Given the description of an element on the screen output the (x, y) to click on. 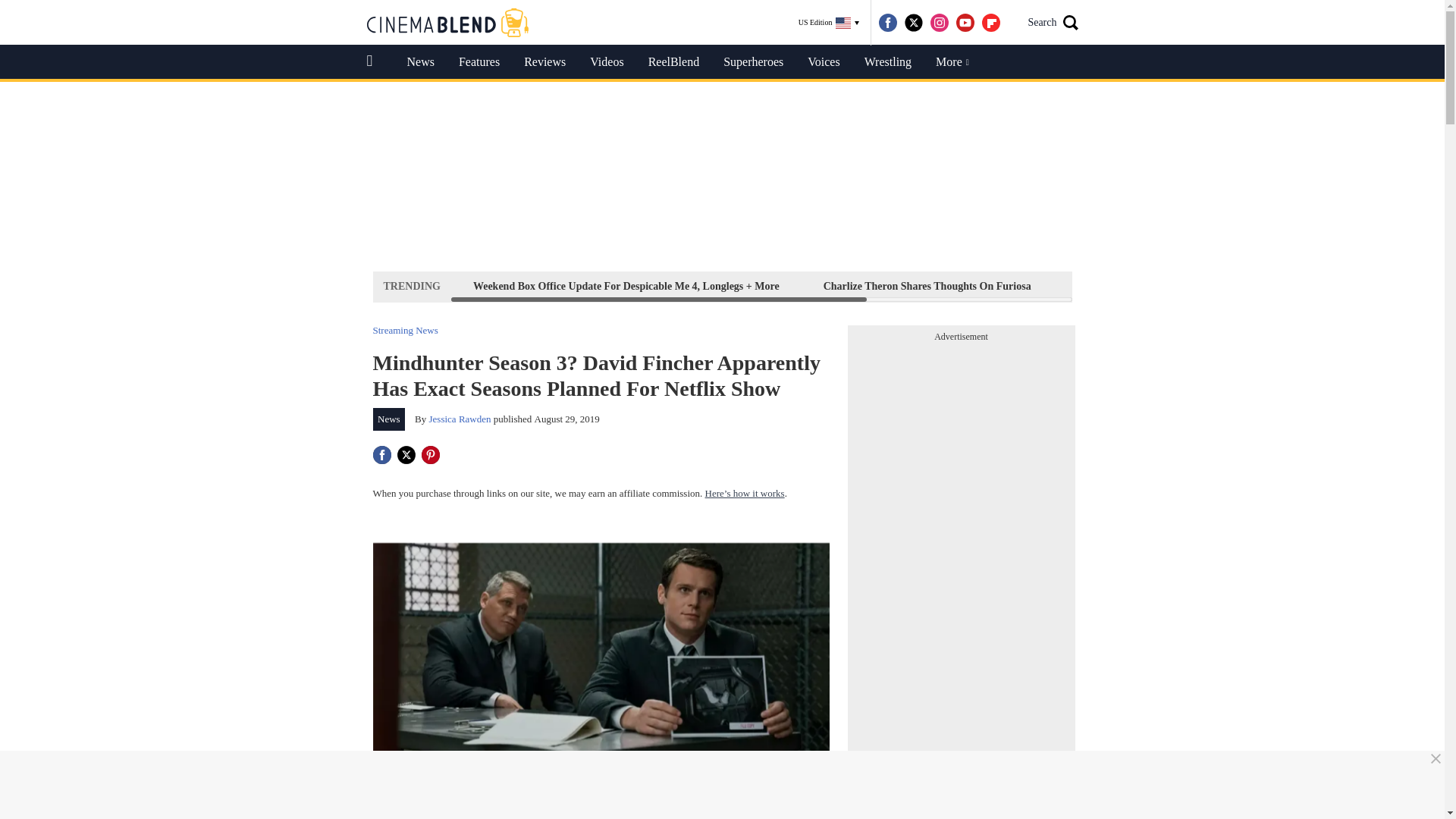
Features (479, 61)
Charlize Theron Shares Thoughts On Furiosa (927, 286)
Voices (822, 61)
ReelBlend (673, 61)
100 Best Sitcoms Of All Time (1290, 286)
Wrestling (887, 61)
2024 Upcoming Movies (1128, 286)
Videos (606, 61)
News (389, 418)
Streaming News (405, 329)
US Edition (828, 22)
News (419, 61)
